Given the description of an element on the screen output the (x, y) to click on. 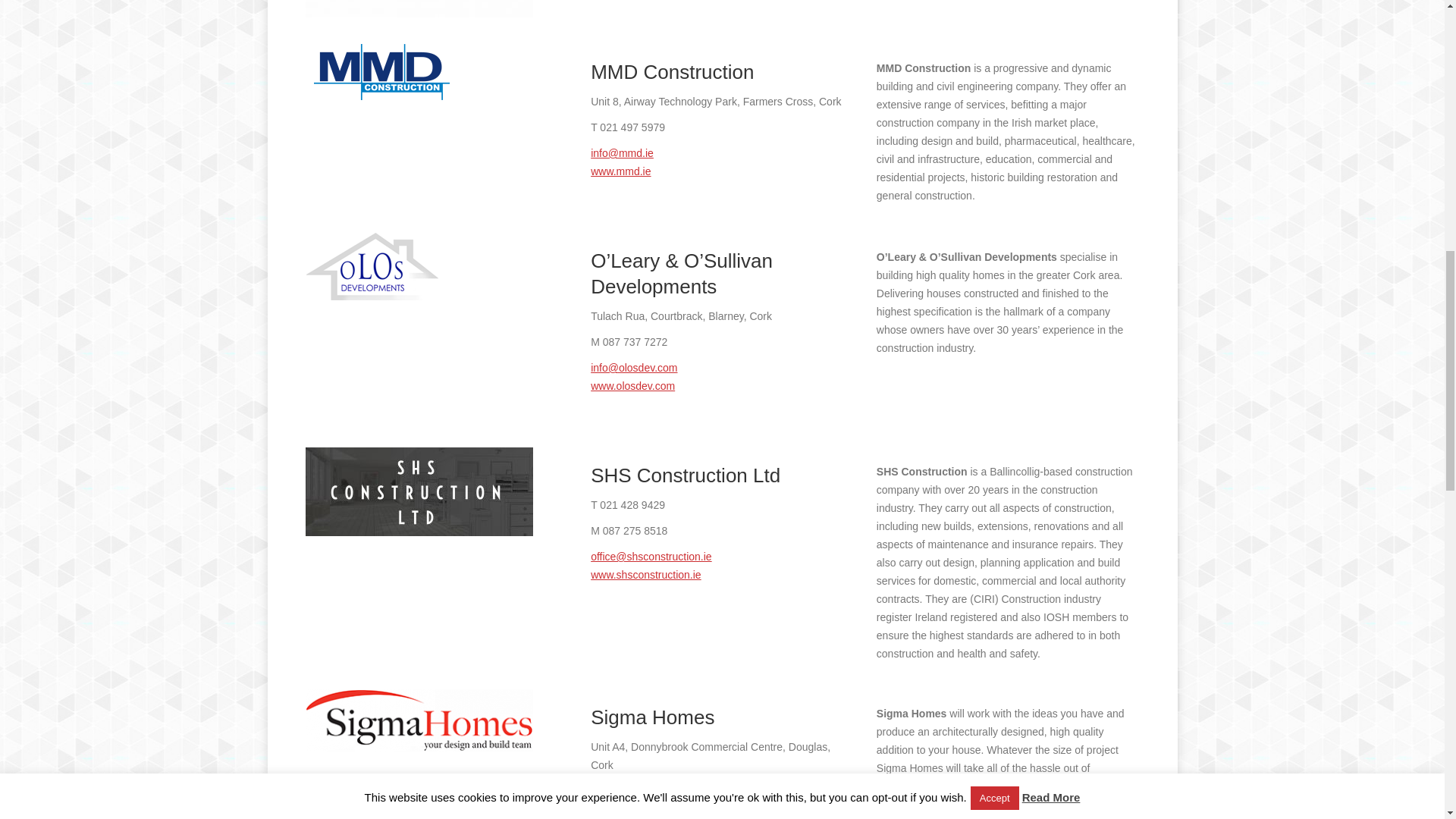
www.mmd.ie (620, 171)
Sigma Homes (418, 720)
MMD Construction (379, 71)
SHS Construction Ltd (418, 491)
